Given the description of an element on the screen output the (x, y) to click on. 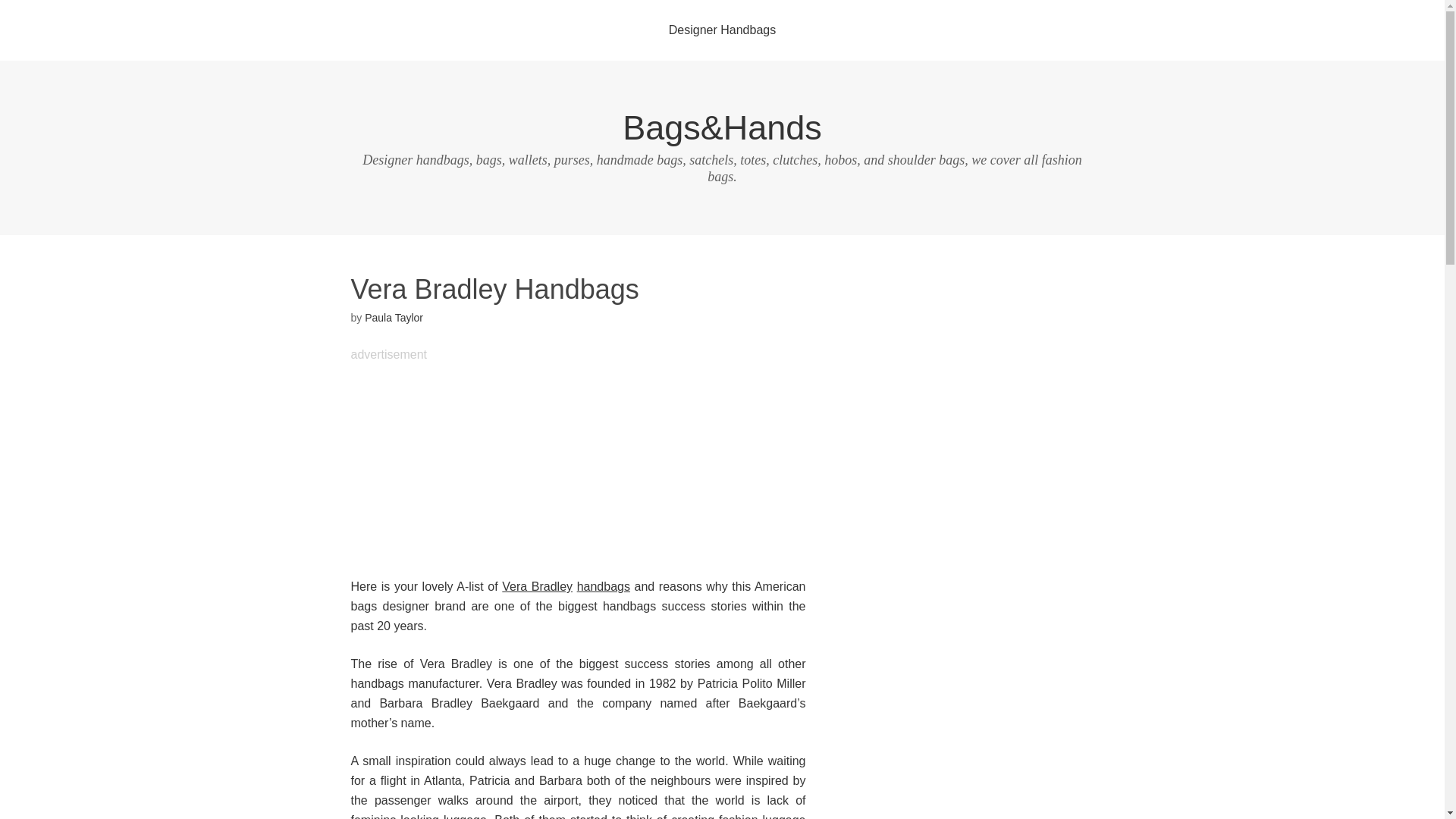
handbags (603, 585)
Paula Taylor (394, 317)
Posts by Paula Taylor (394, 317)
Designer Handbags (721, 30)
Vera Bradley (537, 585)
